Given the description of an element on the screen output the (x, y) to click on. 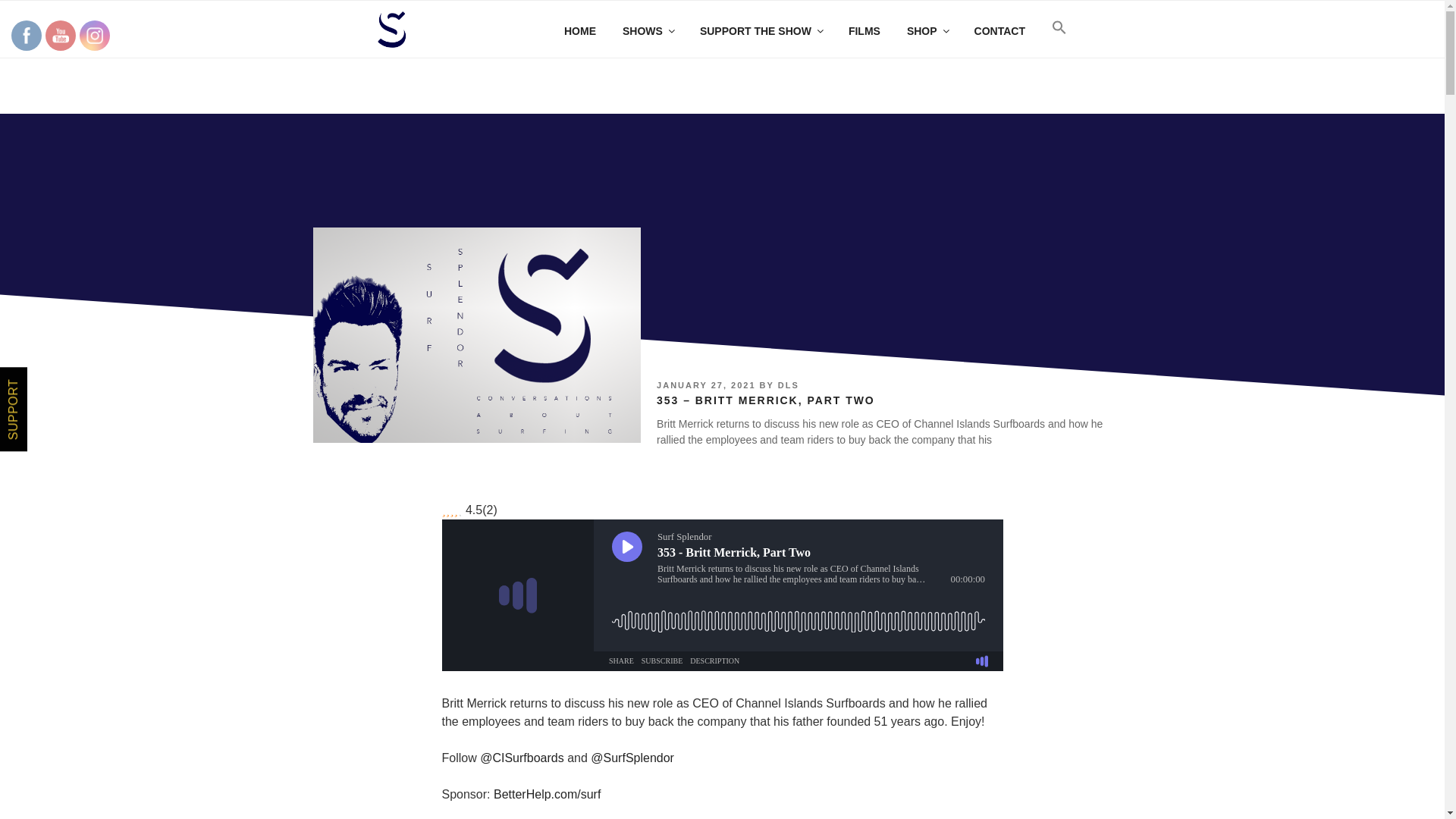
FILMS (863, 30)
Surf Splendor (476, 335)
Facebook (25, 35)
CONTACT (999, 30)
SUPPORT THE SHOW (759, 30)
YouTube (60, 35)
JANUARY 27, 2021 (705, 384)
Instagram (94, 35)
SHOWS (648, 30)
SHOP (926, 30)
DLS (788, 384)
HOME (579, 30)
